Given the description of an element on the screen output the (x, y) to click on. 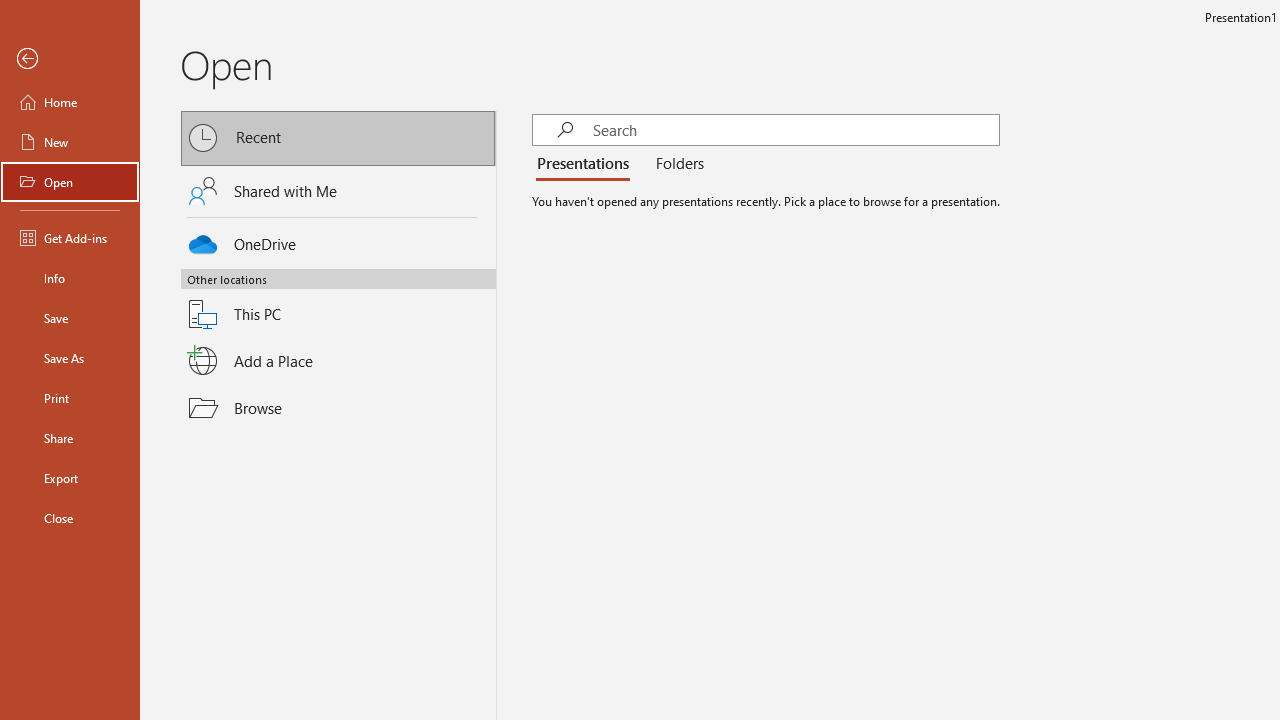
Print (69, 398)
Add a Place (338, 361)
Folders (676, 164)
This PC (338, 302)
Presentations (587, 164)
Info (69, 277)
Browse (338, 407)
Export (69, 477)
OneDrive (338, 240)
Recent (338, 138)
